Given the description of an element on the screen output the (x, y) to click on. 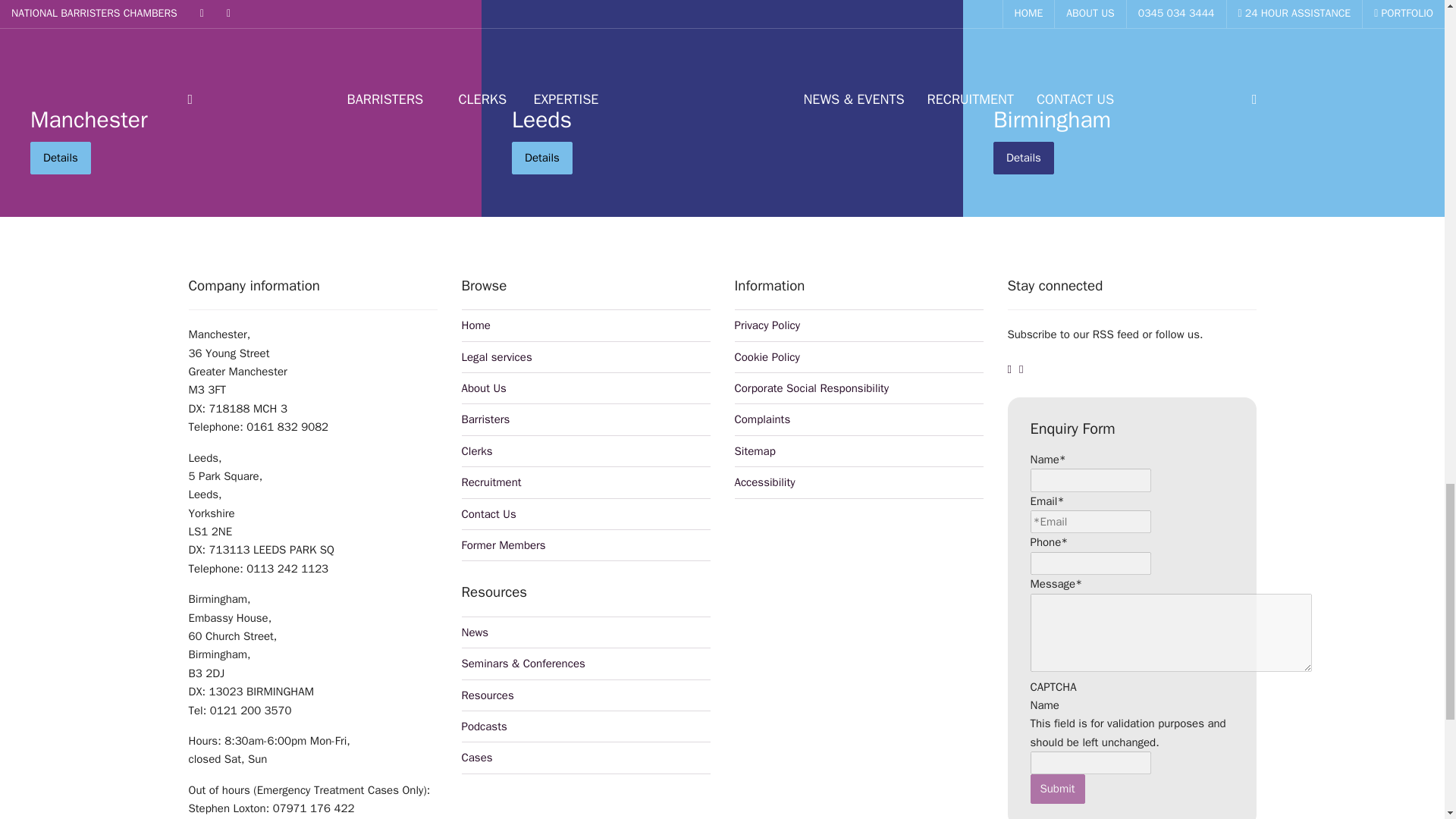
Barristers Chambers - Birmingham (1202, 119)
Barristers Chambers - Manchester (240, 119)
Barristers Chambers - Leeds (722, 119)
